Given the description of an element on the screen output the (x, y) to click on. 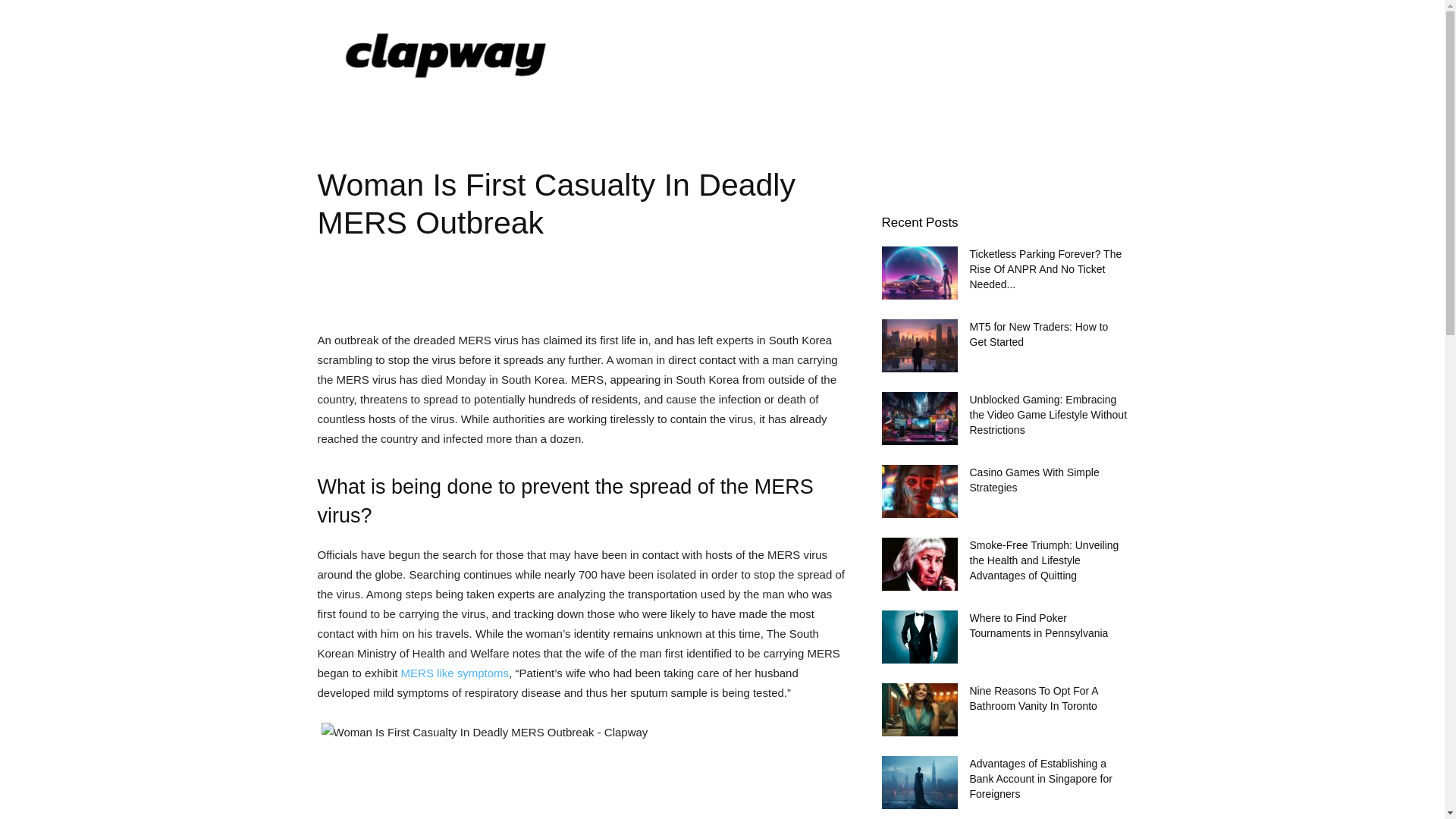
OTHER (856, 114)
GAMES (584, 114)
SERVICES (765, 114)
SCIENCE (423, 114)
CRYPTO (507, 114)
CANNABIS (670, 114)
ALL (348, 114)
